Given the description of an element on the screen output the (x, y) to click on. 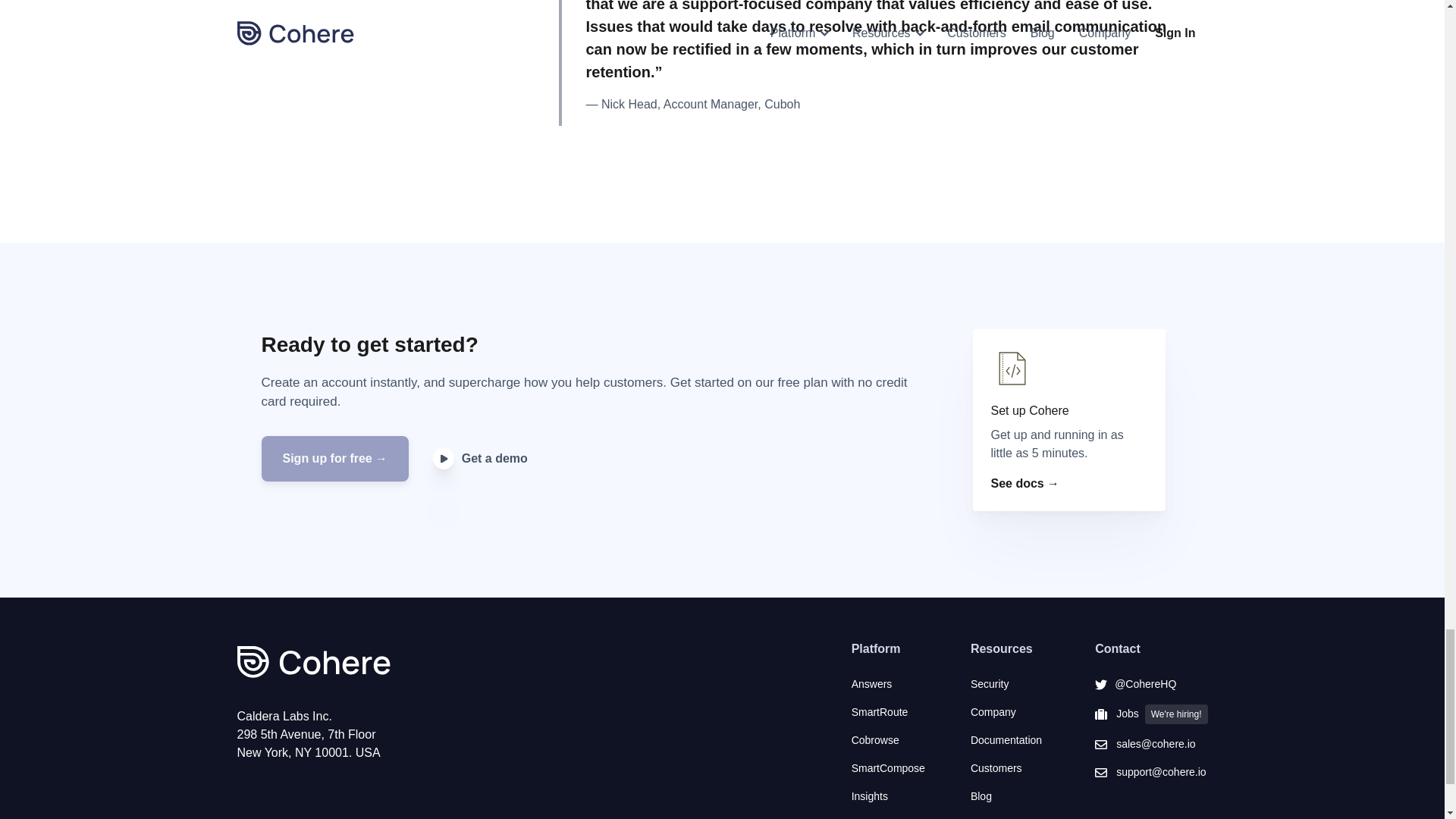
JobsWe're hiring! (1150, 713)
Cobrowse (887, 740)
Customers (1010, 768)
Documentation (1010, 740)
System Status (1010, 817)
Security (1010, 684)
Insights (887, 796)
Company (1010, 712)
SmartRoute (887, 712)
Blog (1010, 796)
